Given the description of an element on the screen output the (x, y) to click on. 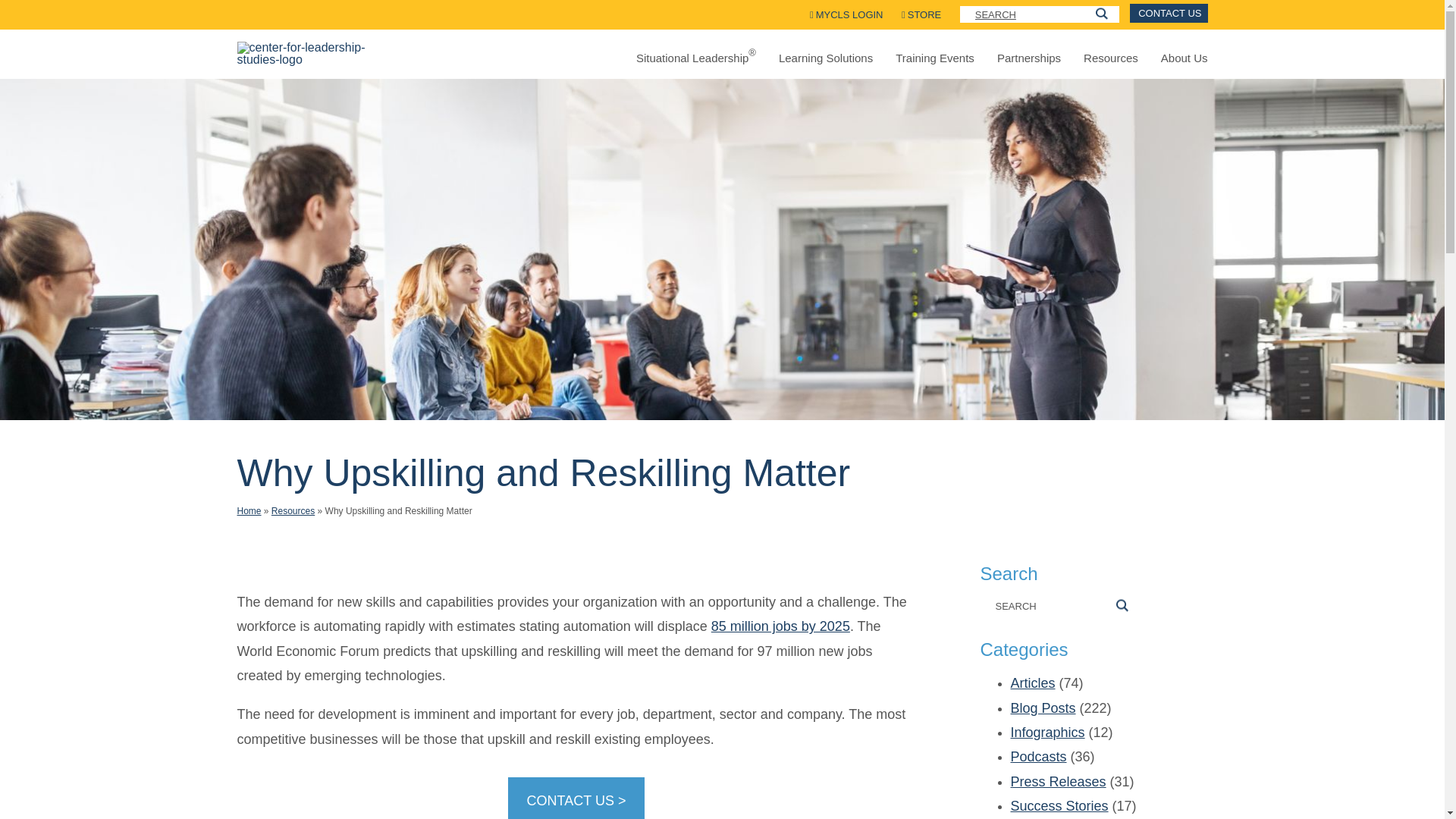
Training Events (934, 57)
Partnerships (1029, 57)
MYCLS LOGIN (846, 14)
About Us (1184, 57)
CONTACT US (1168, 13)
STORE (920, 14)
Learning Solutions (825, 57)
Resources (1110, 57)
